Given the description of an element on the screen output the (x, y) to click on. 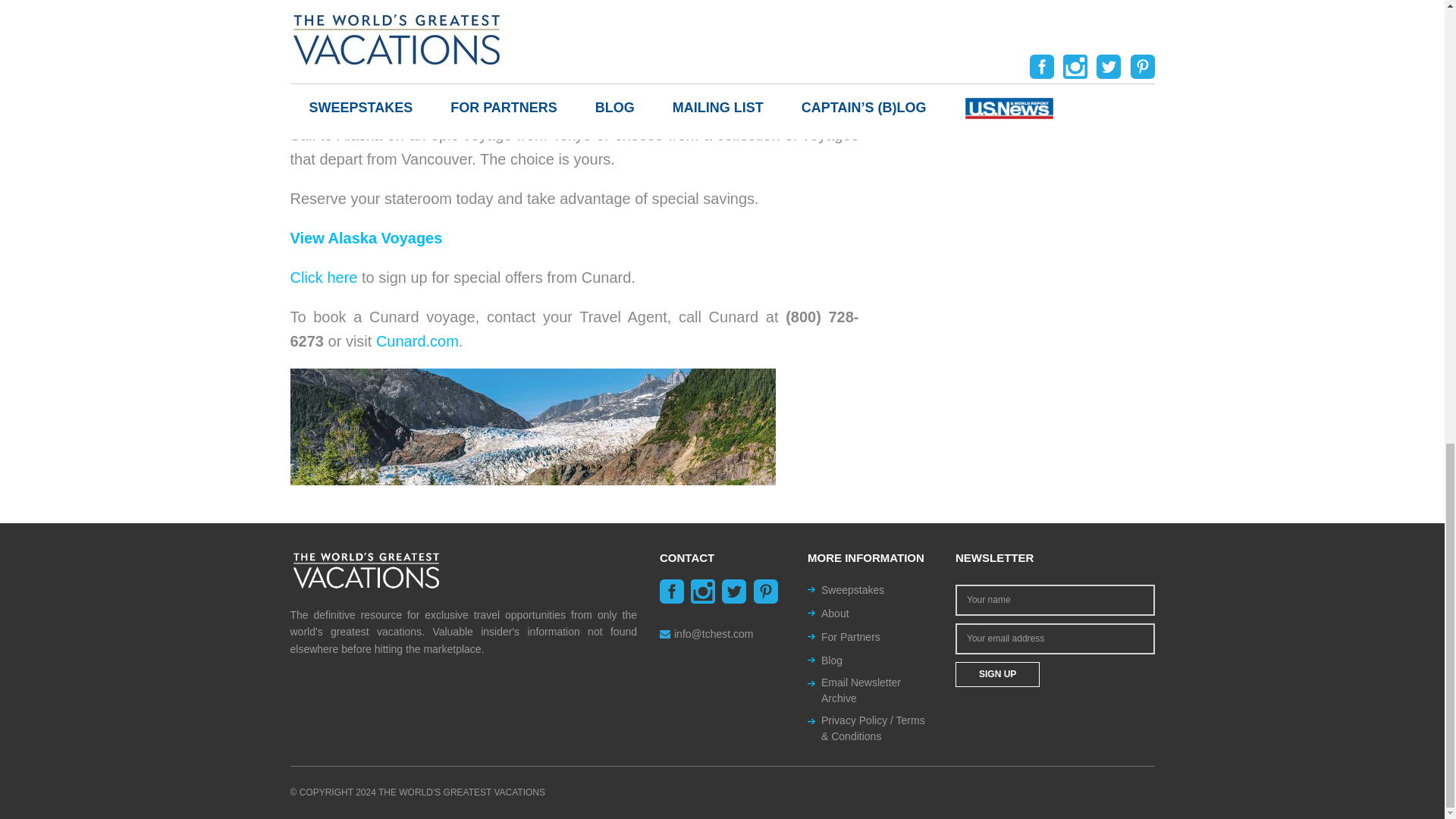
View Alaska Voyages (365, 238)
Email Newsletter Archive (877, 690)
Click here (322, 277)
Cunard.com (416, 340)
About (834, 613)
Sweepstakes (852, 590)
Blog (832, 660)
For Partners (850, 637)
Sign up (997, 674)
Sign up (997, 674)
